Given the description of an element on the screen output the (x, y) to click on. 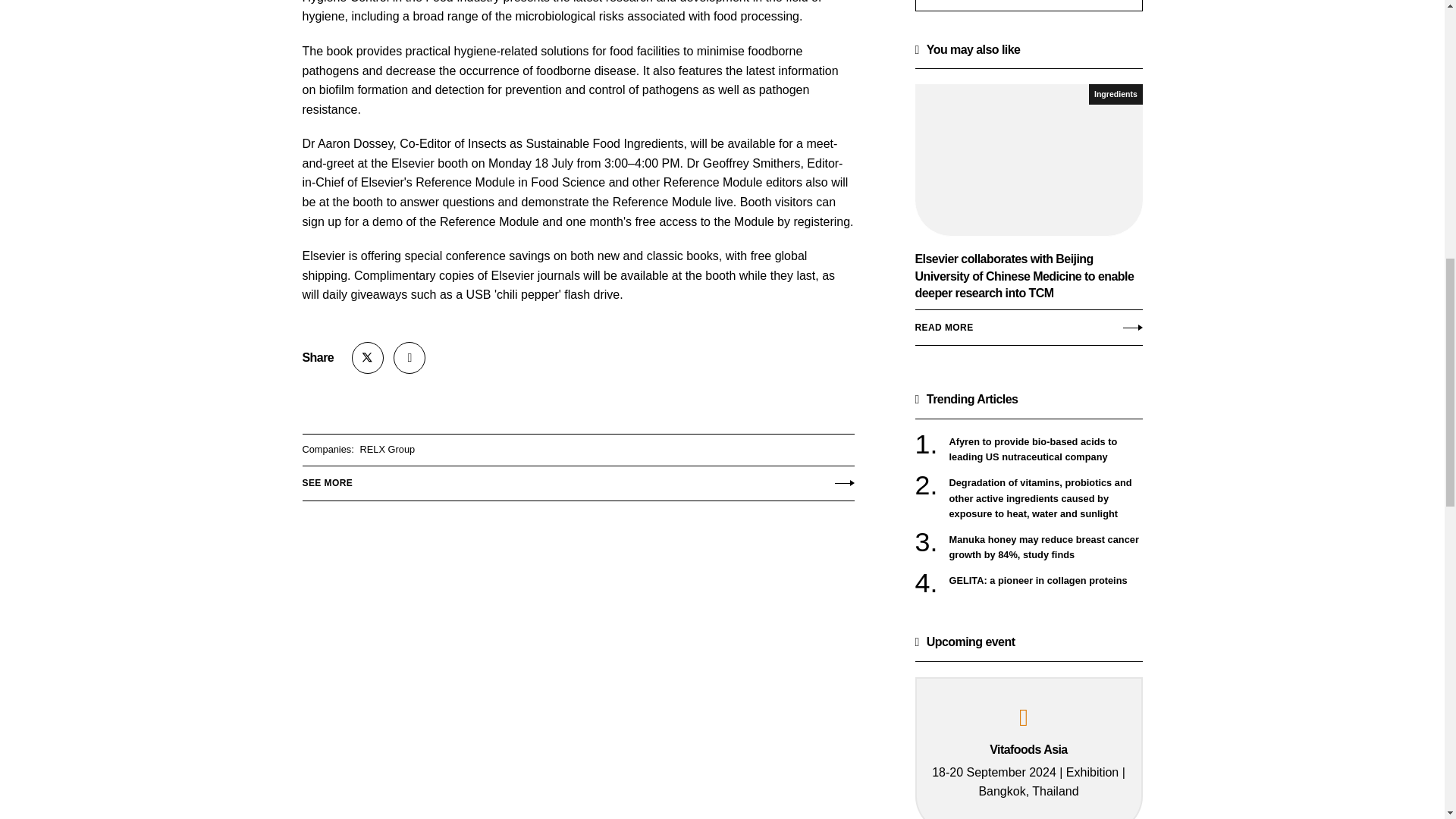
GELITA: a pioneer in collagen proteins (1045, 580)
SEE MORE (577, 479)
Ingredients (1115, 94)
Follow Nutraceutical Business Review on X (368, 357)
X (368, 357)
LinkedIn (409, 357)
Follow Nutraceutical Business Review on LinkedIn (409, 357)
